Given the description of an element on the screen output the (x, y) to click on. 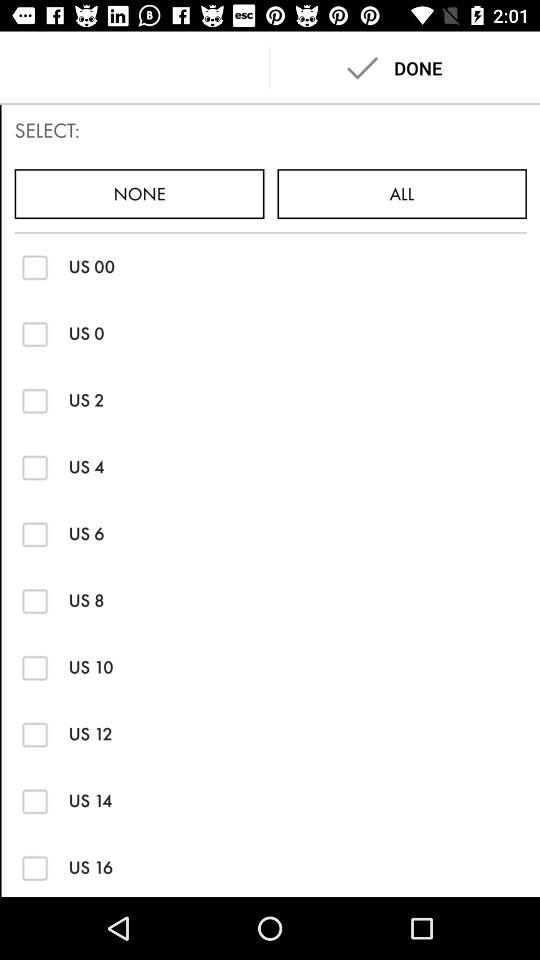
select us 6 (34, 533)
